Given the description of an element on the screen output the (x, y) to click on. 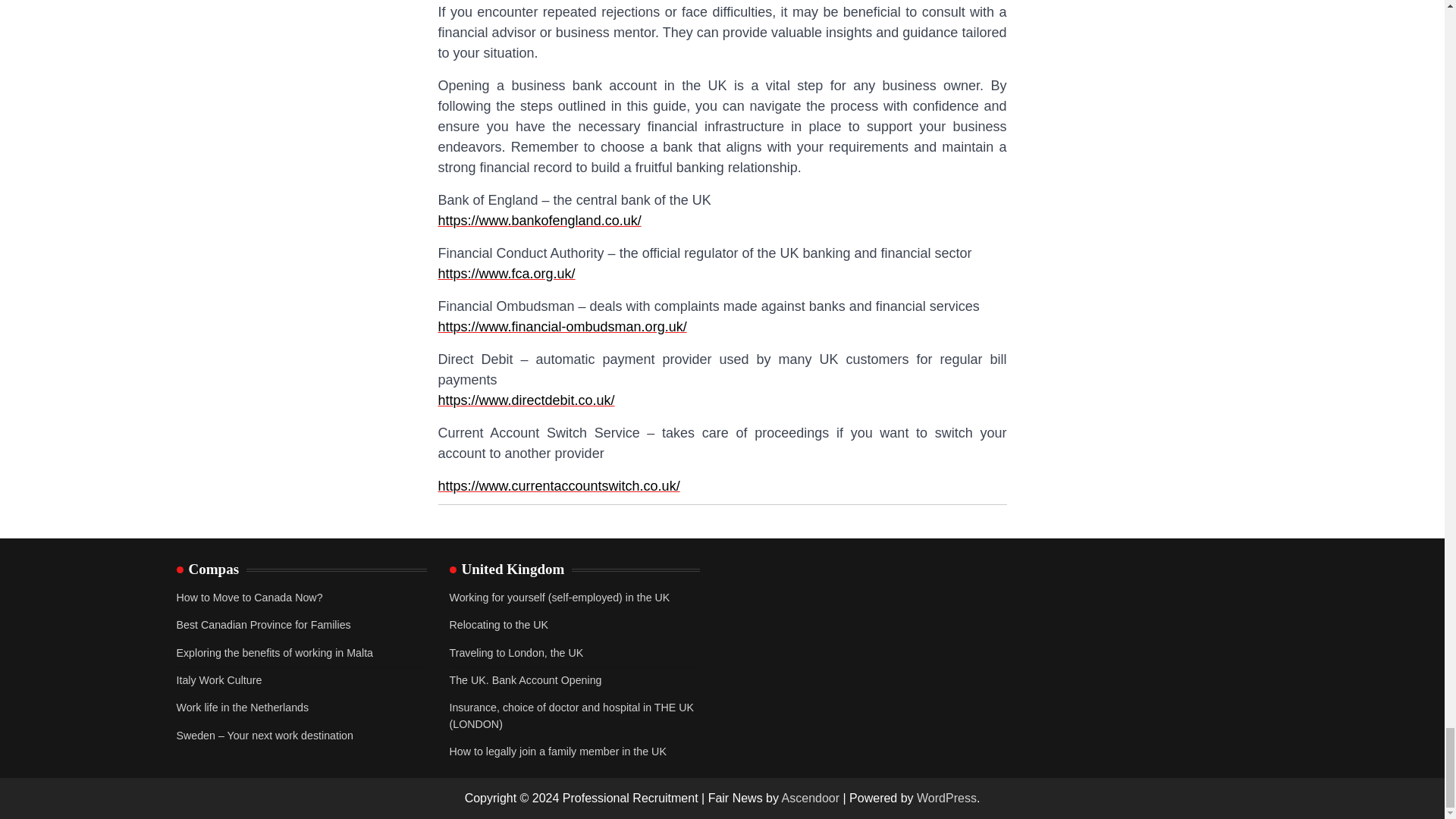
Ascendoor (810, 797)
Exploring the benefits of working in Malta (274, 653)
WordPress (946, 797)
Italy Work Culture (219, 680)
Work life in the Netherlands (242, 707)
Best Canadian Province for Families (263, 624)
The UK. Bank Account Opening (524, 680)
How to Move to Canada Now? (248, 597)
Traveling to London, the UK (515, 653)
How to legally join a family member in the UK (556, 751)
